Given the description of an element on the screen output the (x, y) to click on. 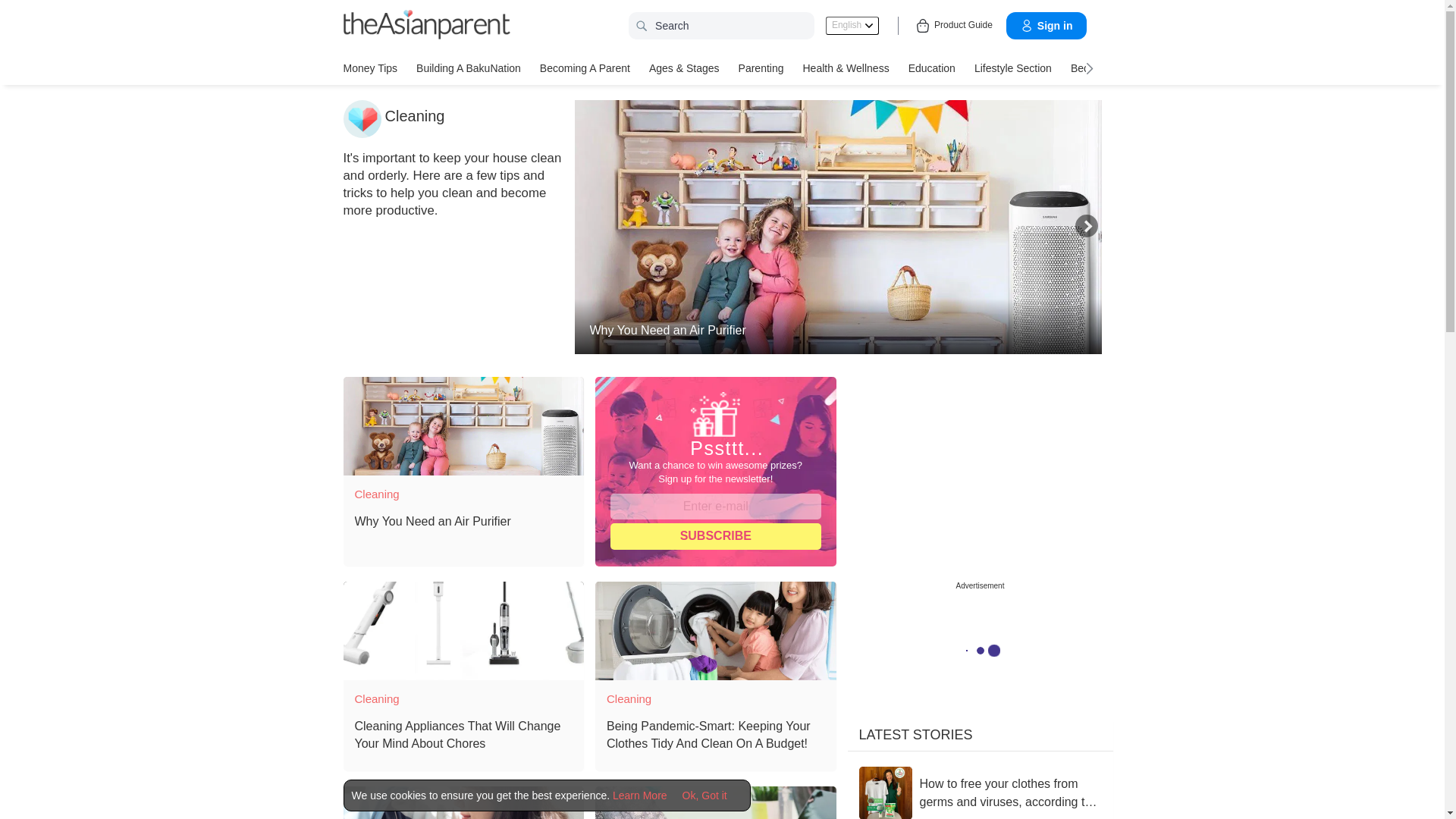
Parenting (761, 67)
Building a BakuNation (468, 67)
theAsianparent Philippines (425, 24)
Building A BakuNation (468, 67)
Becoming A Parent (585, 67)
Money Tips (369, 67)
Becoming a Parent (585, 67)
Sign in (1046, 25)
Education (931, 67)
Money Tips (369, 67)
